Given the description of an element on the screen output the (x, y) to click on. 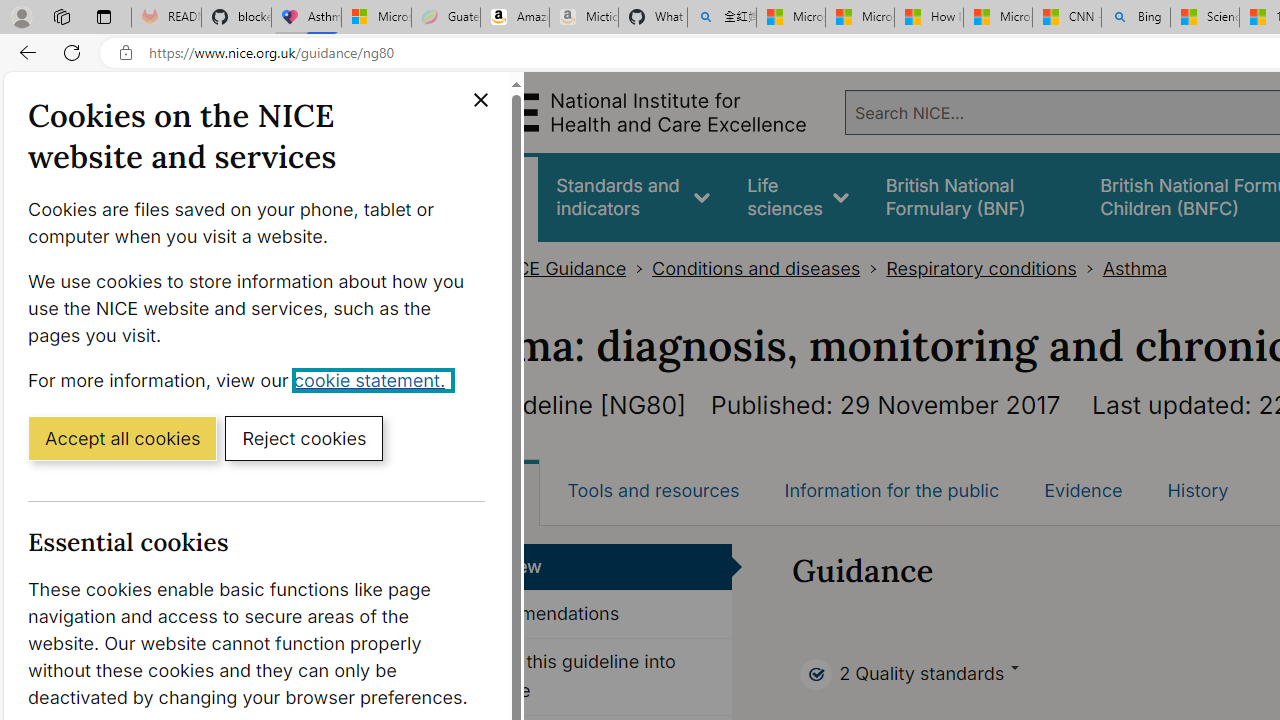
History (1197, 490)
Tools and resources (653, 490)
cookie statement. (Opens in a new window) (373, 379)
Information for the public (891, 490)
Recommendations (588, 615)
Putting this guideline into practice (587, 676)
NICE Guidance (561, 268)
